Given the description of an element on the screen output the (x, y) to click on. 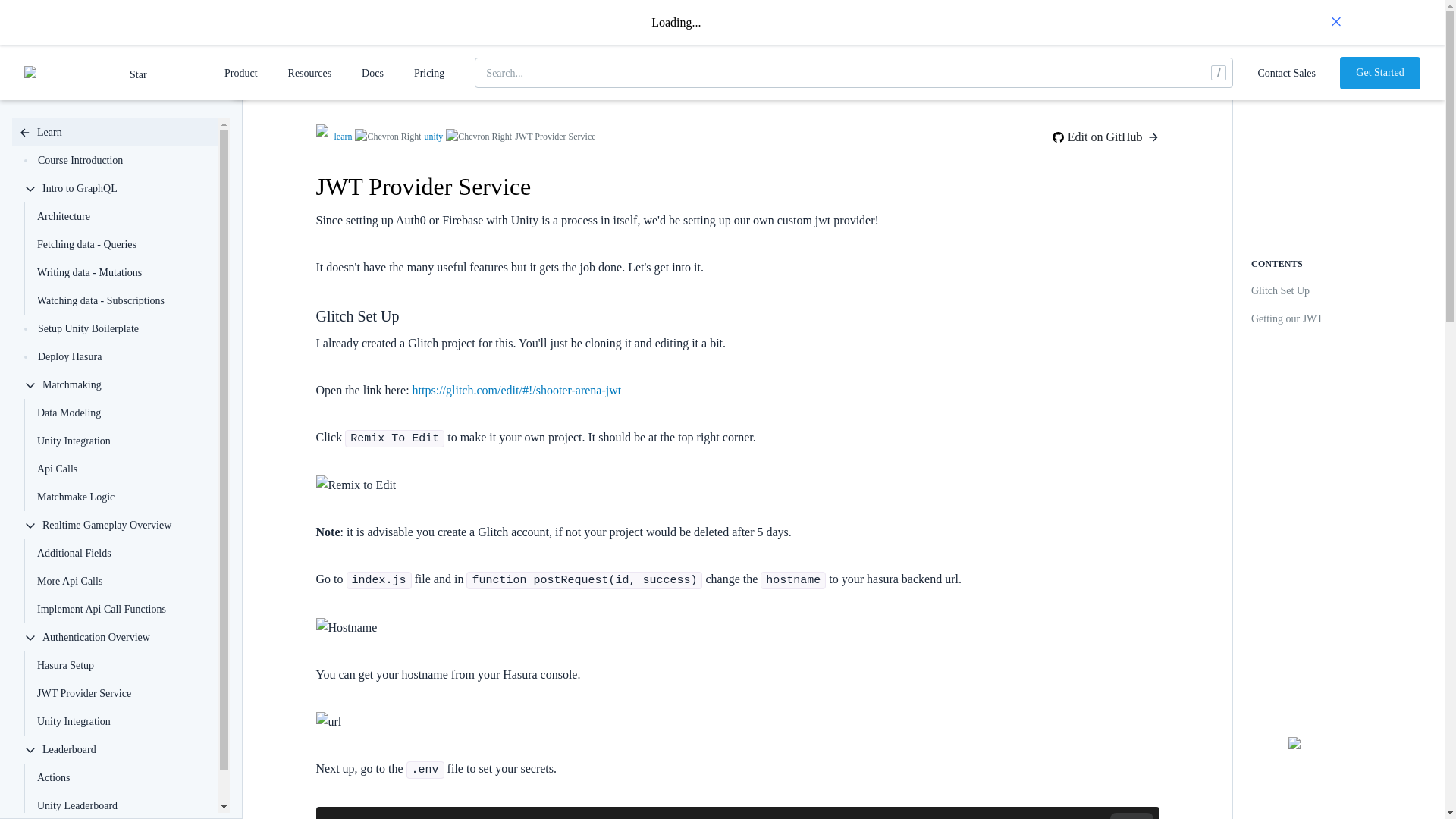
Star (165, 74)
Contact Sales (1286, 72)
Docs (372, 72)
Product (240, 72)
Resources (309, 72)
Hasura Logo (68, 72)
Get Started (1380, 72)
Pricing (428, 72)
